Given the description of an element on the screen output the (x, y) to click on. 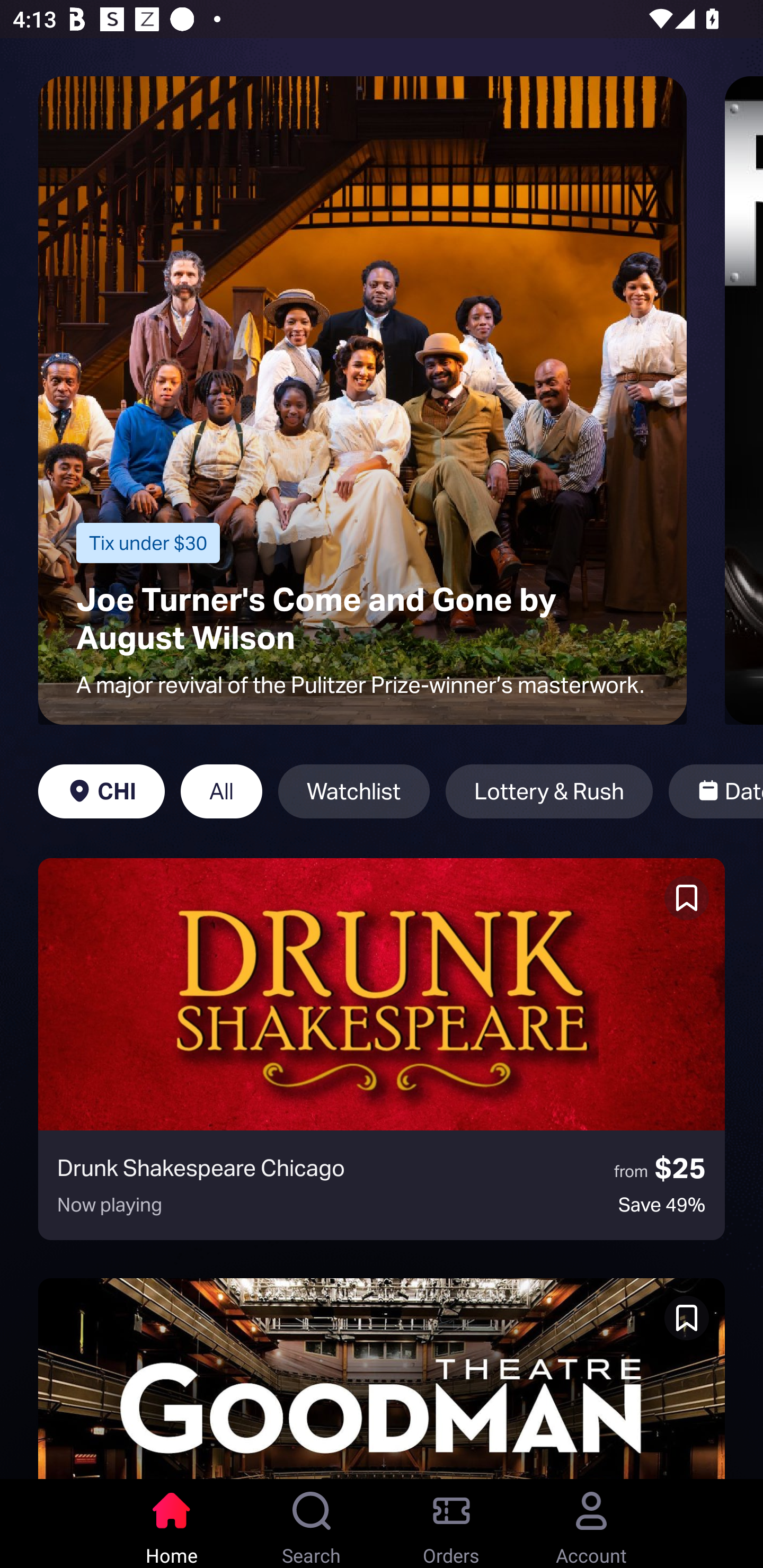
CHI (101, 791)
All (221, 791)
Watchlist (353, 791)
Lottery & Rush (549, 791)
Search (311, 1523)
Orders (451, 1523)
Account (591, 1523)
